Given the description of an element on the screen output the (x, y) to click on. 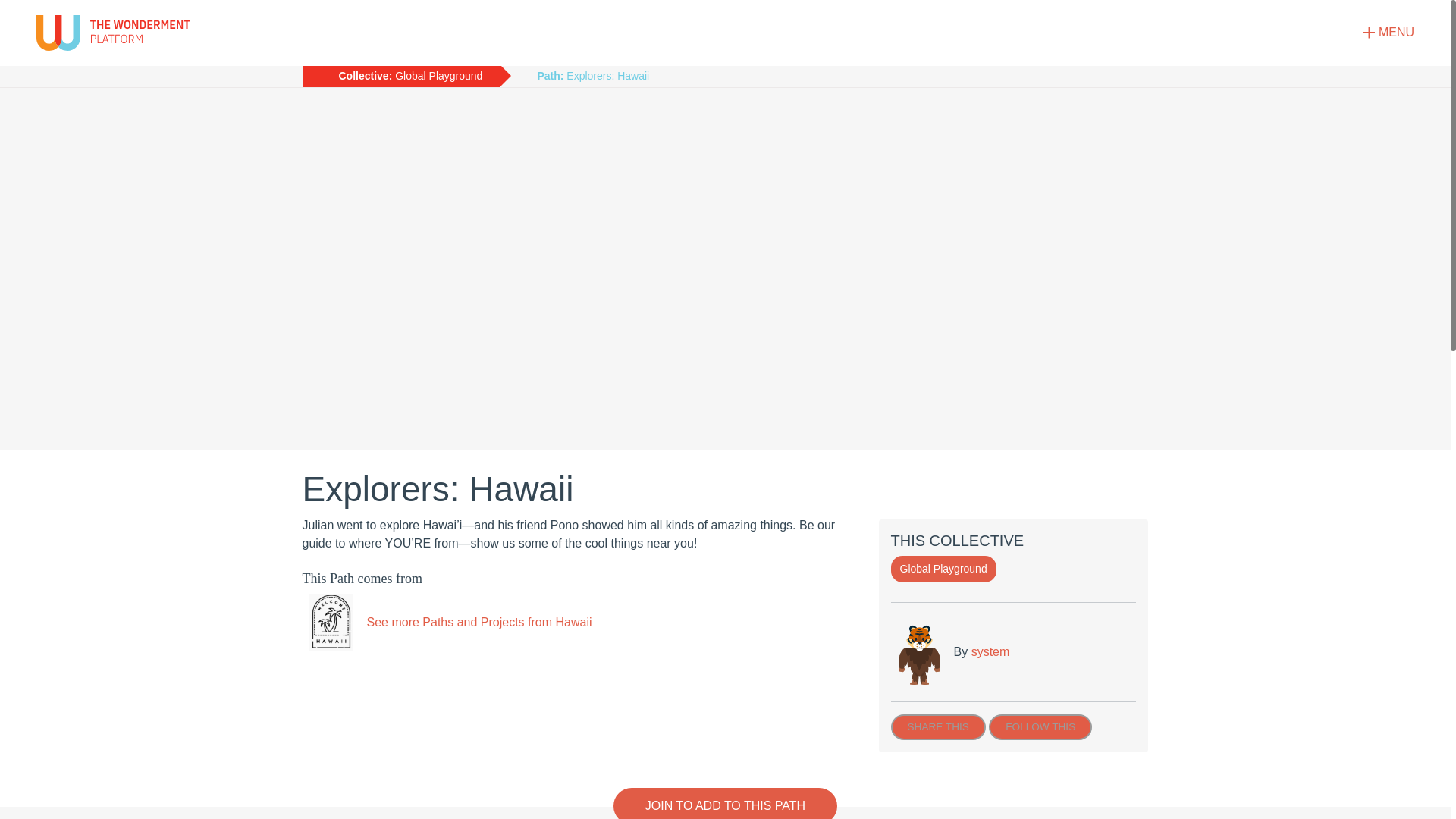
Collective: Global Playground (400, 75)
See more Paths and Projects from Hawaii (446, 621)
system (990, 651)
FOLLOW THIS (1040, 727)
Search (1393, 203)
Global Playground (942, 569)
JOIN TO ADD TO THIS PATH (724, 803)
SHARE THIS (937, 727)
